Given the description of an element on the screen output the (x, y) to click on. 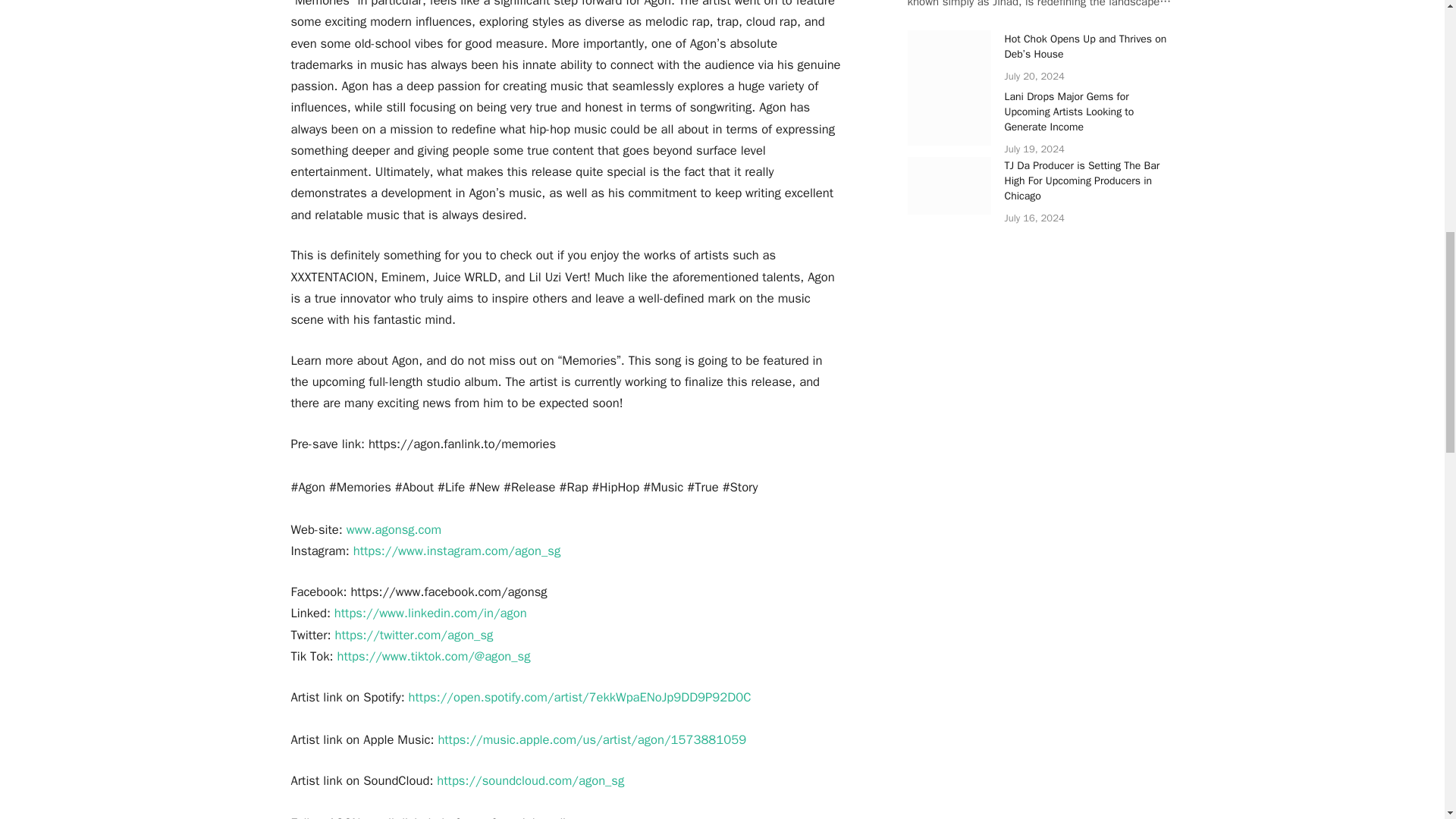
www.agonsg.com (393, 529)
